Given the description of an element on the screen output the (x, y) to click on. 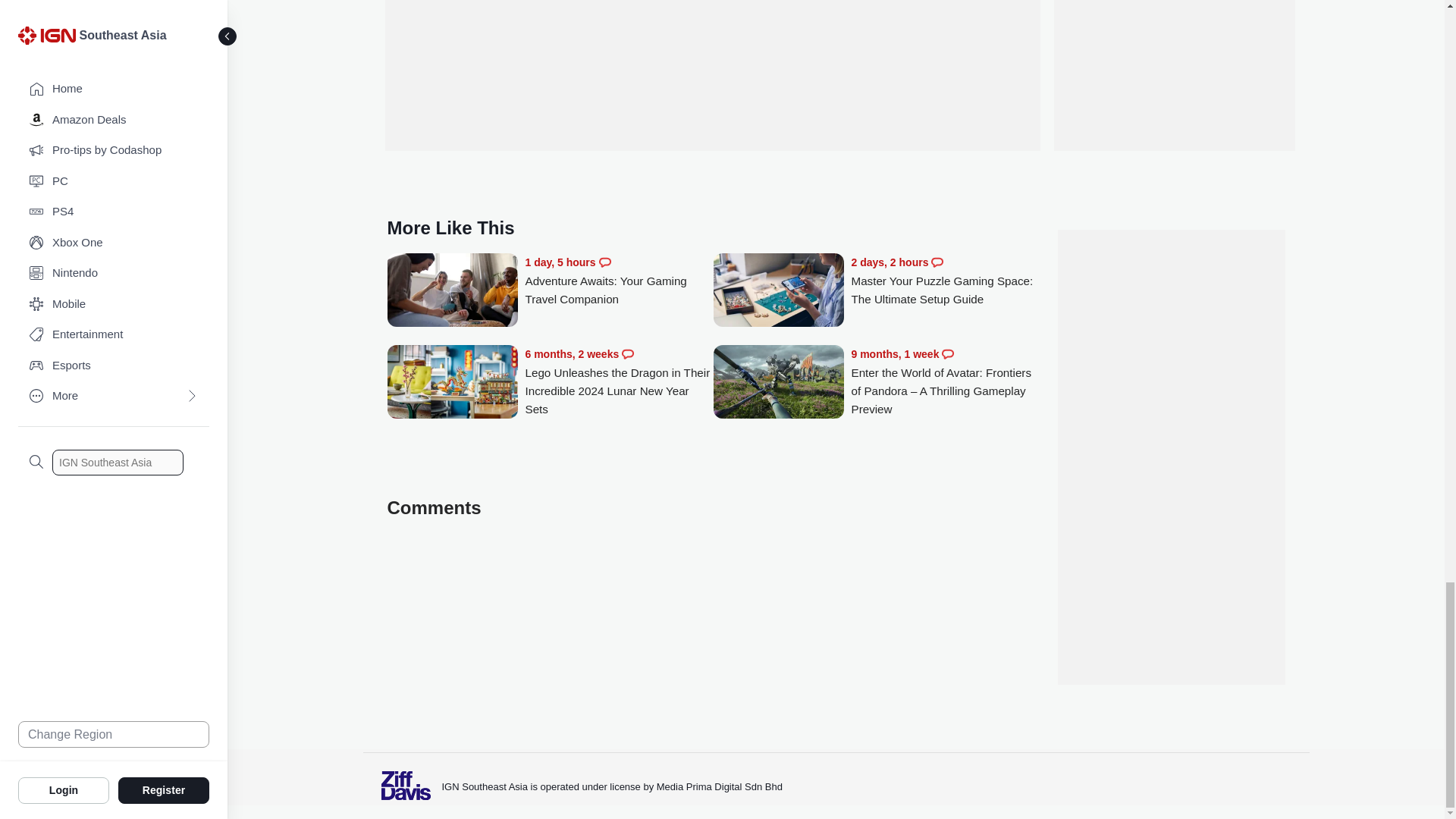
Comments (604, 262)
Adventure Awaits: Your Gaming Travel Companion (618, 280)
Master Your Puzzle Gaming Space: The Ultimate Setup Guide (778, 291)
Adventure Awaits: Your Gaming Travel Companion (451, 291)
Comments (937, 262)
Comments (627, 354)
Master Your Puzzle Gaming Space: The Ultimate Setup Guide (944, 280)
